Given the description of an element on the screen output the (x, y) to click on. 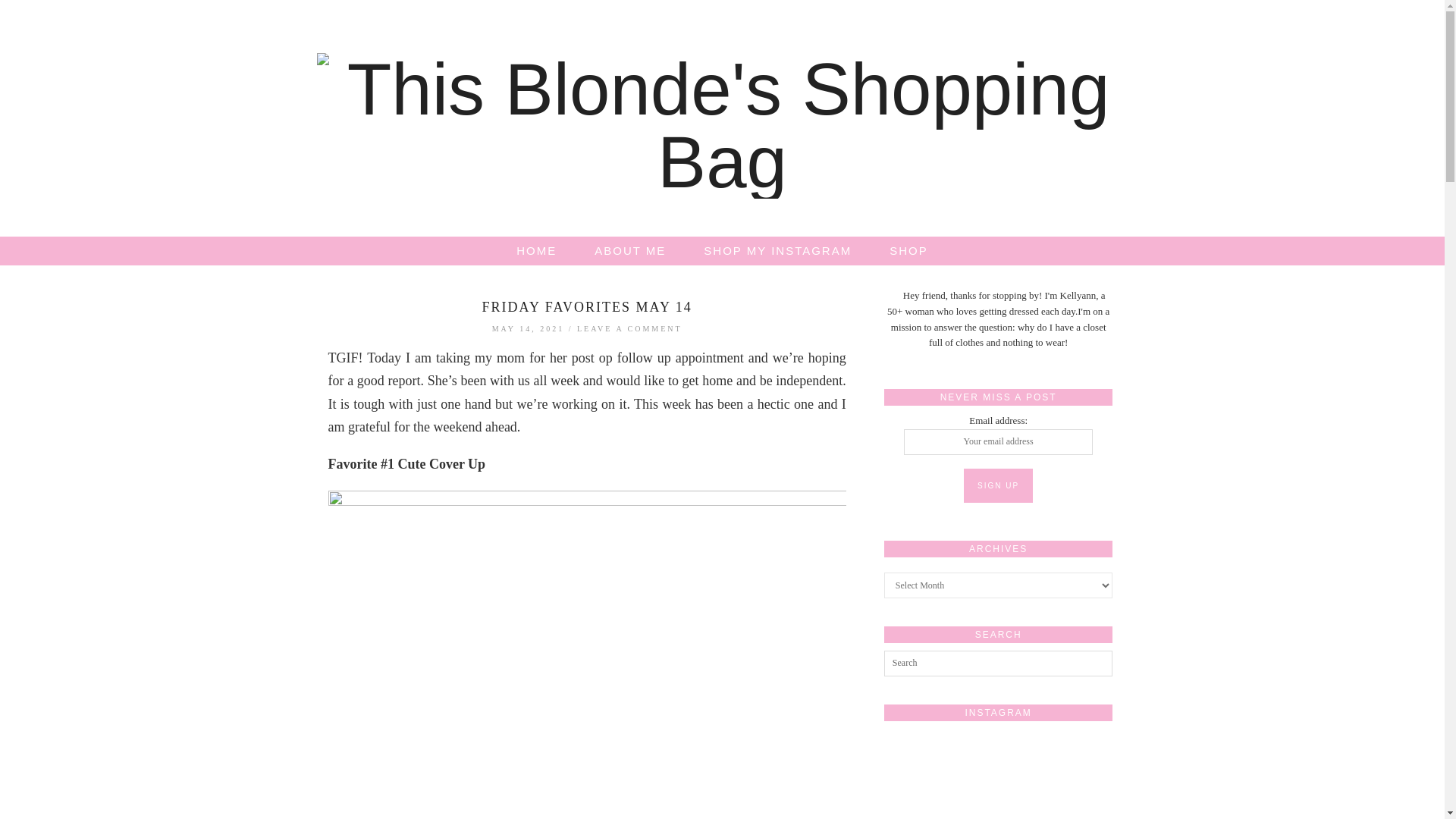
This Blonde's Shopping Bag (722, 126)
SHOP MY INSTAGRAM (777, 250)
SHOP (908, 250)
ABOUT ME (629, 250)
HOME (536, 250)
Sign up (997, 485)
LEAVE A COMMENT (629, 328)
Sign up (997, 485)
